Given the description of an element on the screen output the (x, y) to click on. 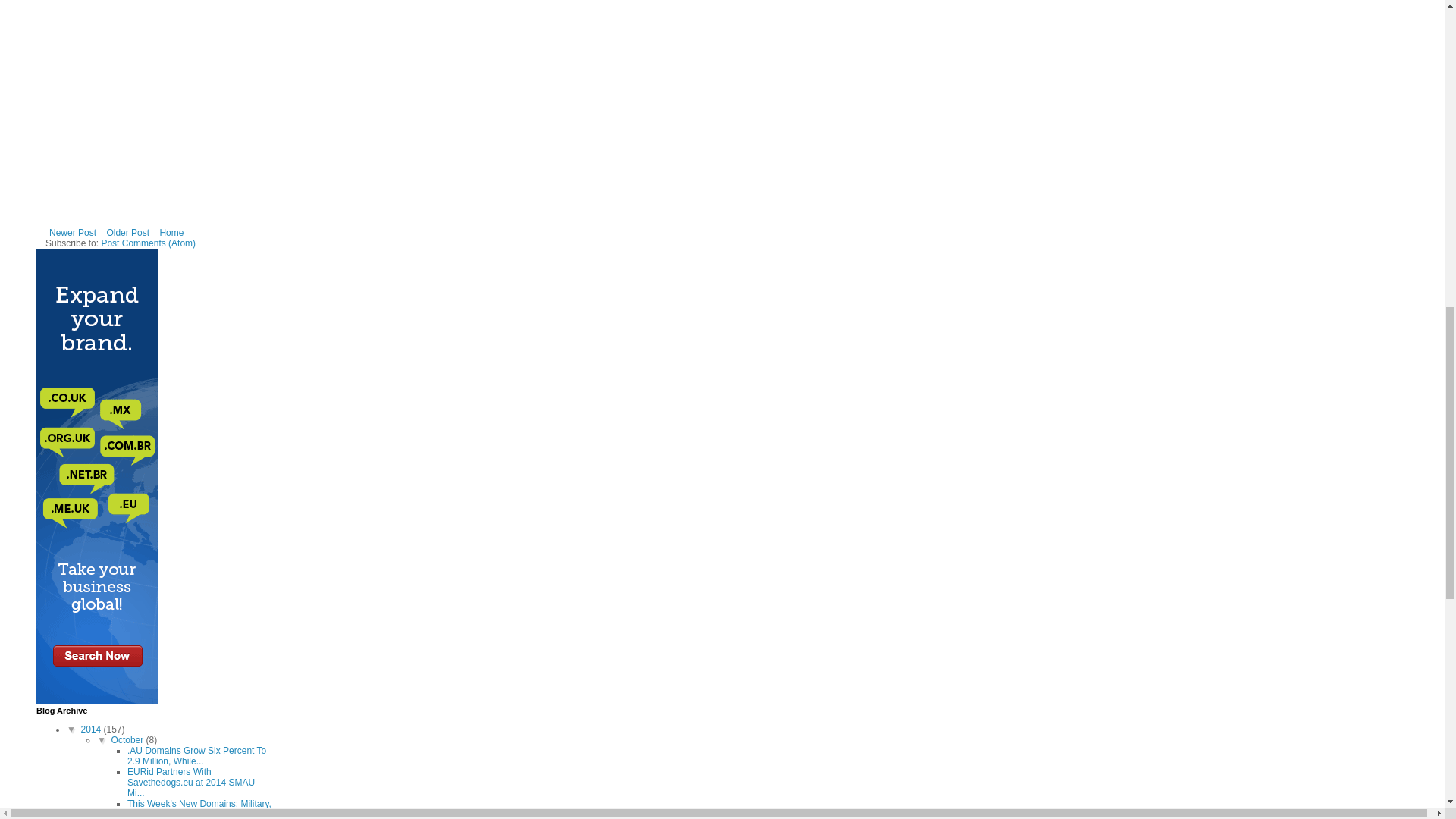
Older Post (126, 232)
Home (171, 232)
Older Post (126, 232)
Newer Post (72, 232)
Newer Post (72, 232)
